Given the description of an element on the screen output the (x, y) to click on. 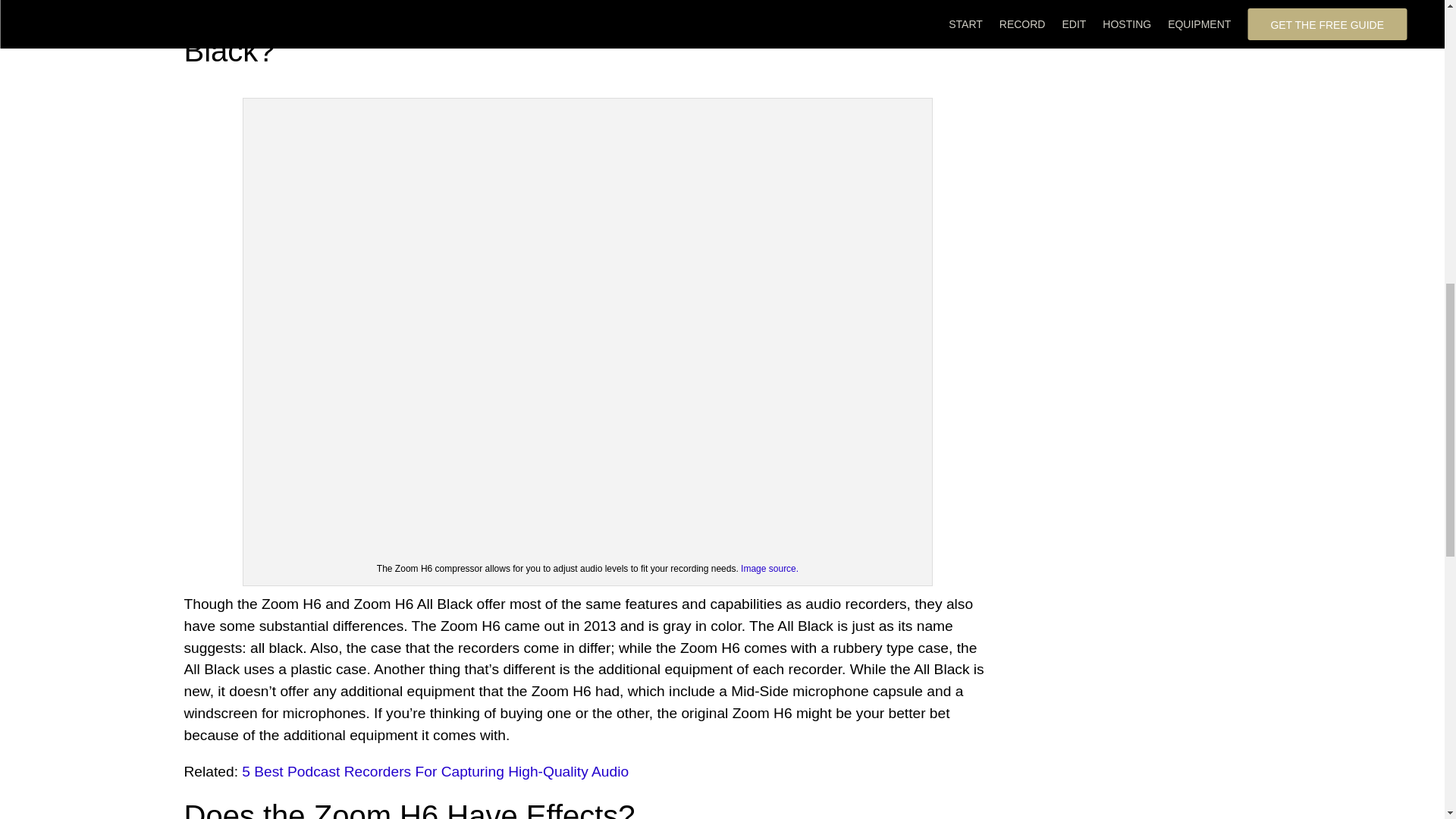
Image source. (769, 568)
5 Best Podcast Recorders For Capturing High-Quality Audio (434, 771)
